Given the description of an element on the screen output the (x, y) to click on. 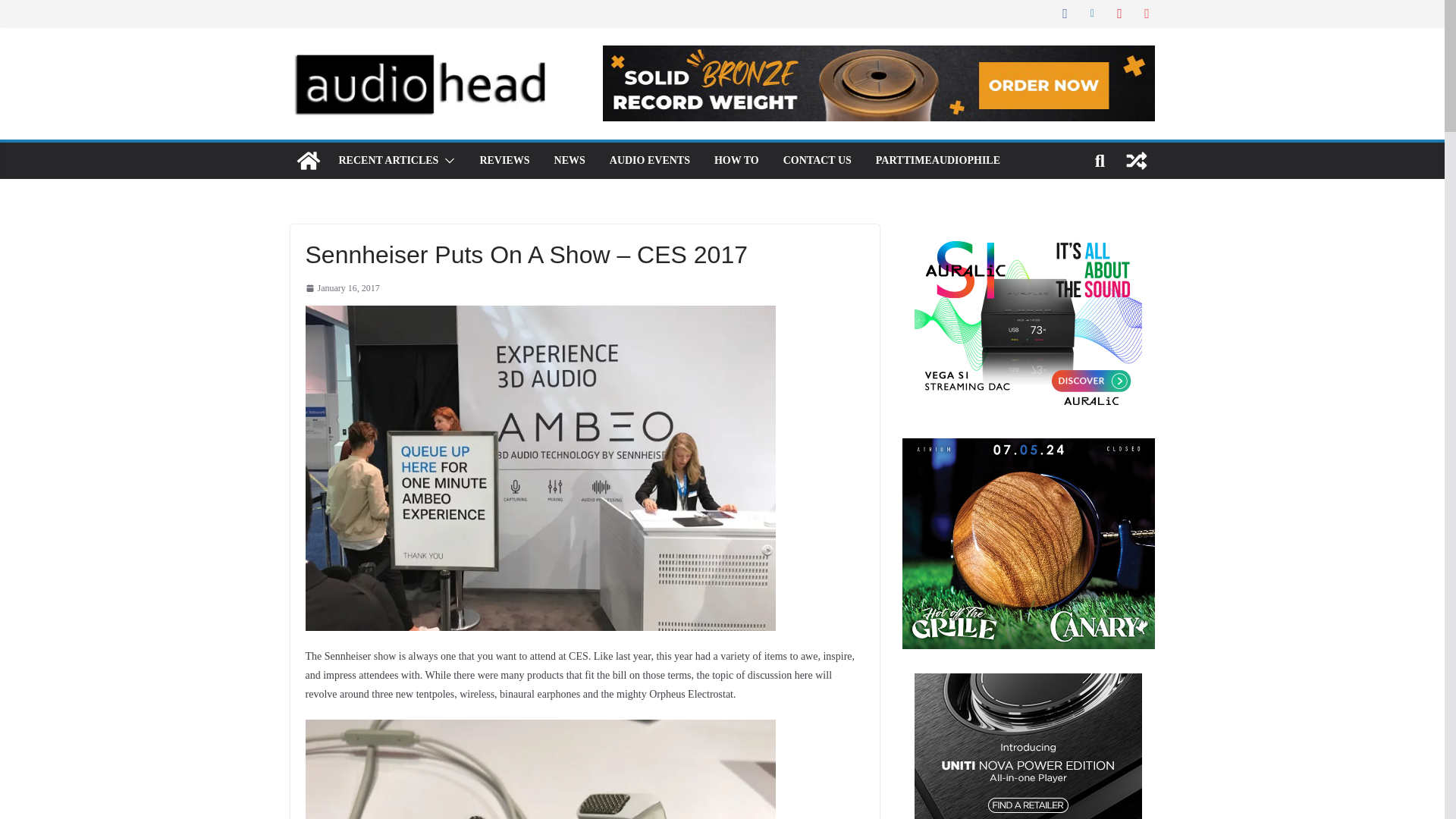
AudioHead (307, 160)
AUDIO EVENTS (650, 160)
View a random post (1136, 160)
CONTACT US (817, 160)
HOW TO (736, 160)
6:00 am (341, 288)
REVIEWS (504, 160)
NEWS (569, 160)
PARTTIMEAUDIOPHILE (938, 160)
RECENT ARTICLES (387, 160)
January 16, 2017 (341, 288)
